Given the description of an element on the screen output the (x, y) to click on. 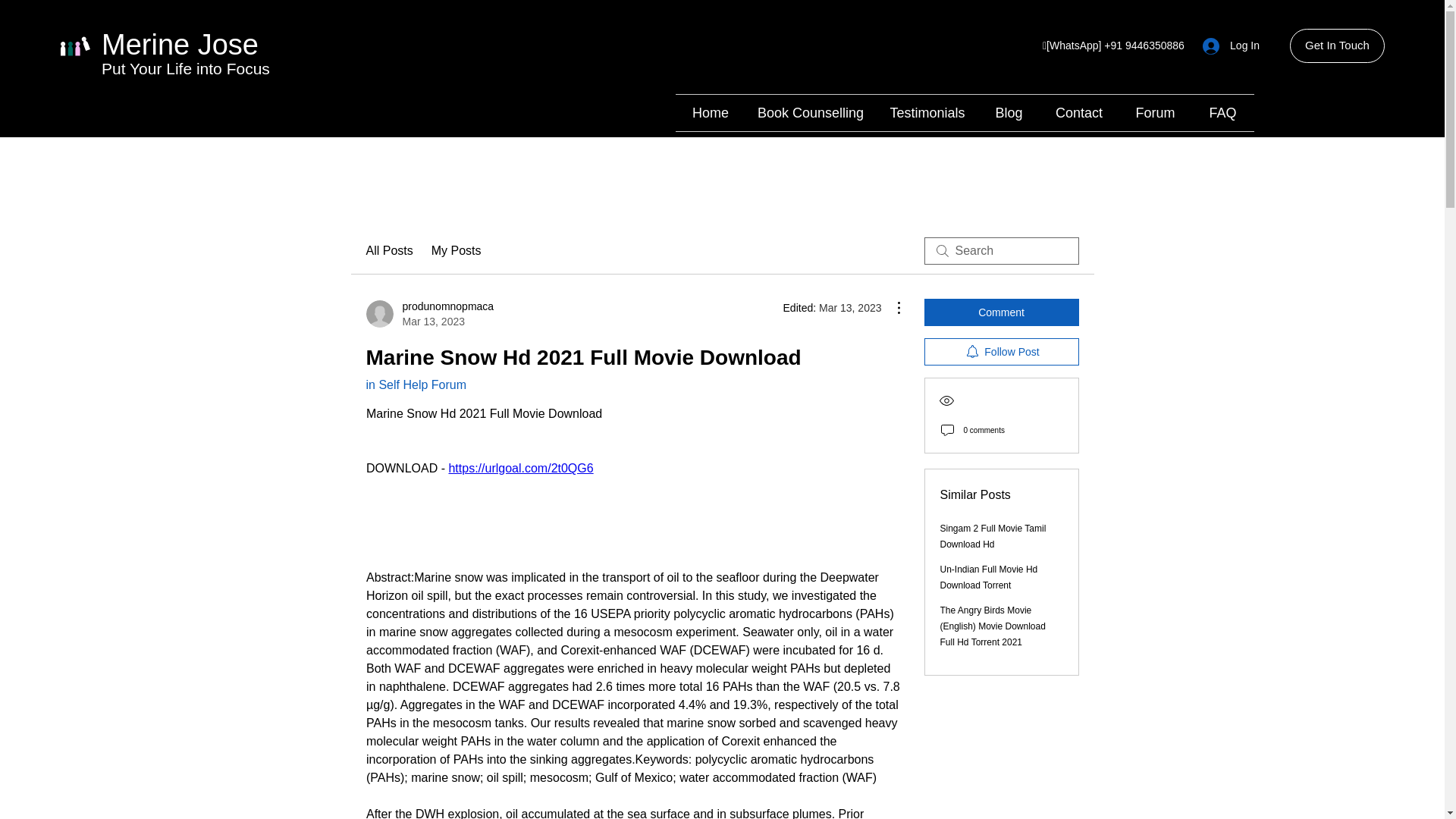
Blog (1008, 113)
Singam 2 Full Movie Tamil Download Hd (993, 536)
All Posts (388, 250)
Home (710, 113)
Log In (1230, 45)
in Self Help Forum (415, 384)
Testimonials (927, 113)
Forum (1155, 113)
Follow Post (1000, 351)
Get In Touch (1337, 45)
Book Counselling (810, 113)
Un-Indian Full Movie Hd Download Torrent (989, 577)
Merine Jose (180, 44)
My Posts (455, 250)
Comment (1000, 311)
